Given the description of an element on the screen output the (x, y) to click on. 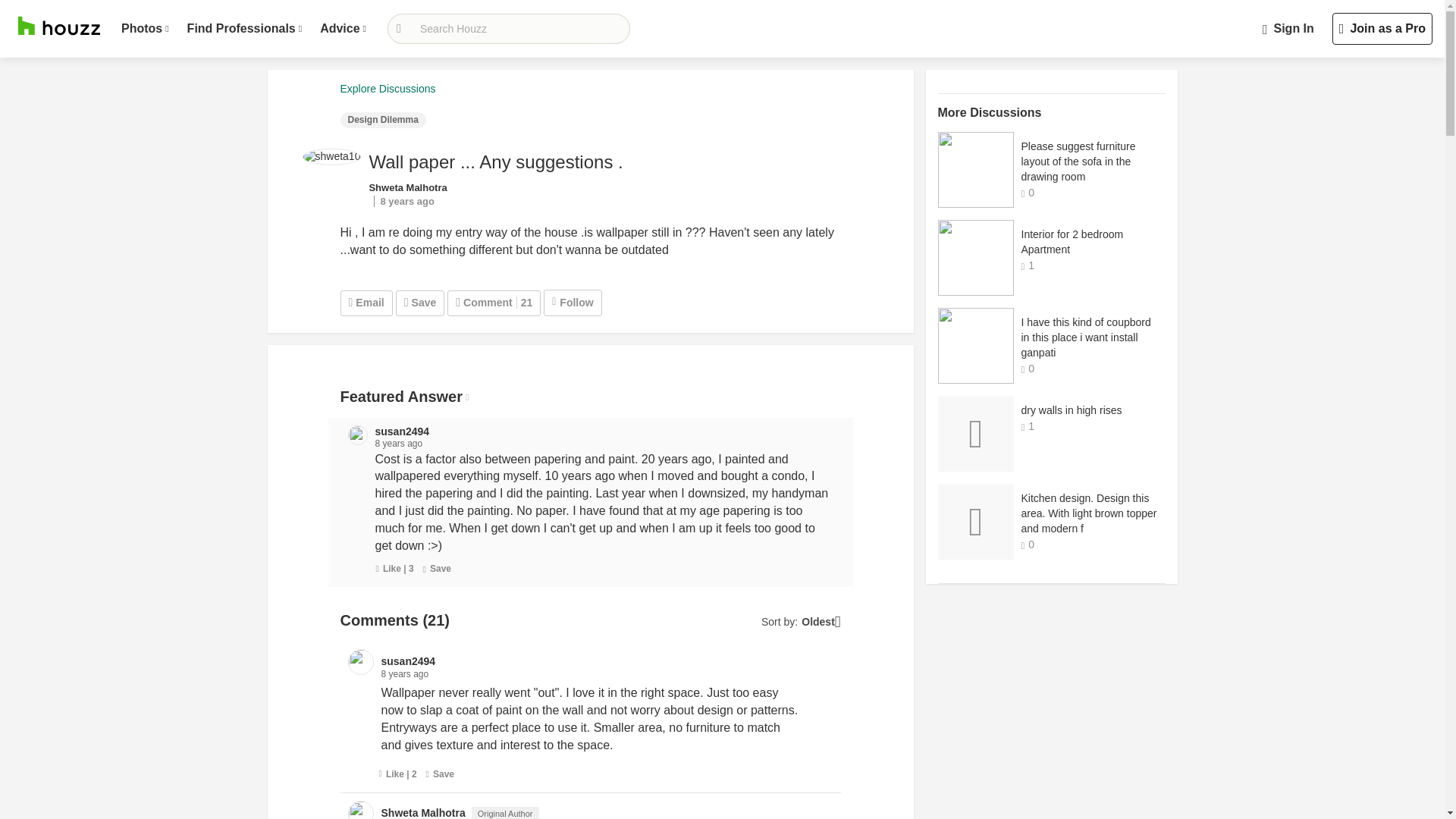
Advice (343, 28)
FIND PROFESSIONALS (244, 28)
Photos (144, 28)
Photos (144, 28)
Find Professionals (244, 28)
